Given the description of an element on the screen output the (x, y) to click on. 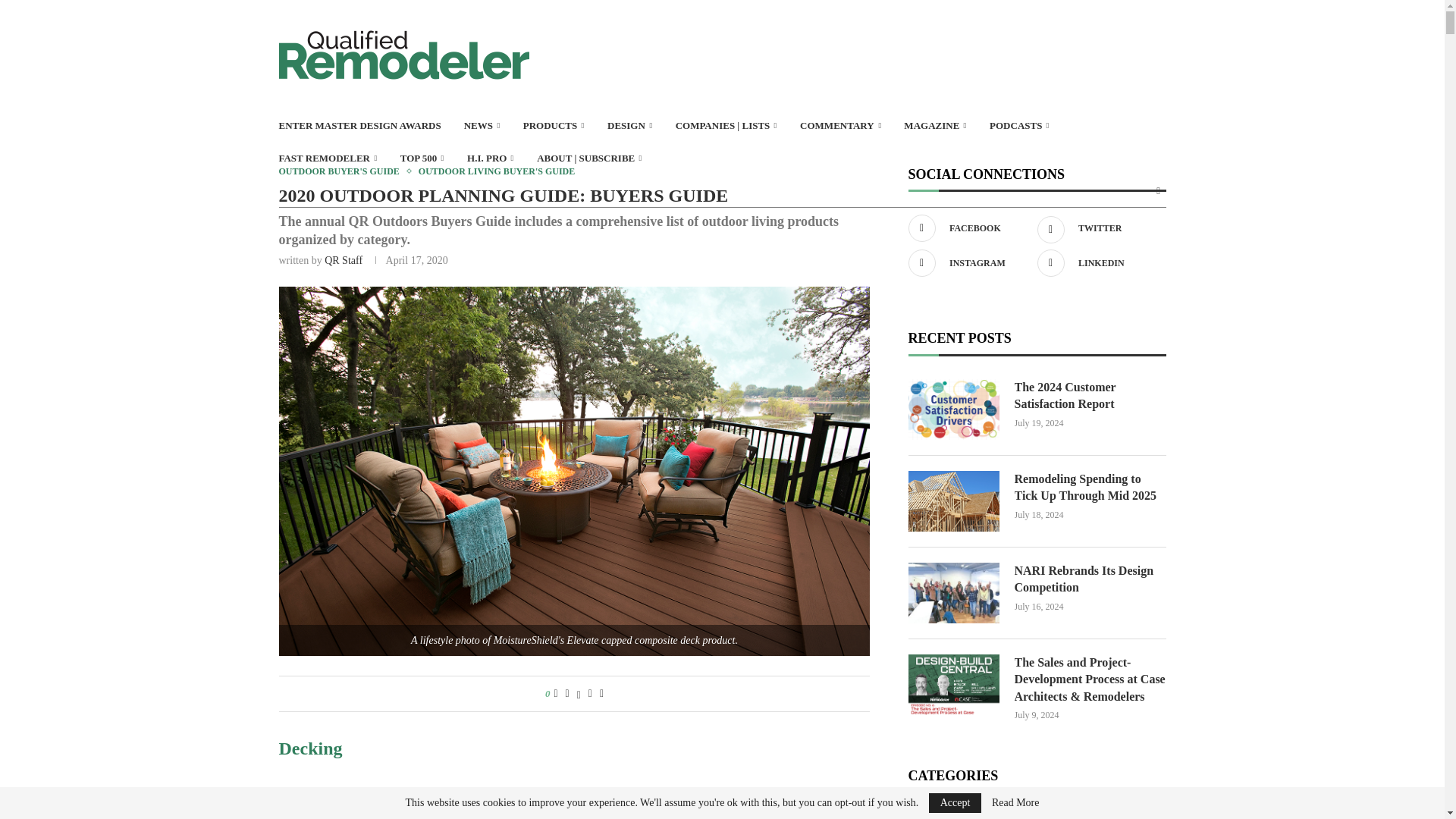
DESIGN (629, 125)
ENTER MASTER DESIGN AWARDS (360, 125)
MAGAZINE (935, 125)
PRODUCTS (553, 125)
NEWS (482, 125)
COMMENTARY (839, 125)
